Given the description of an element on the screen output the (x, y) to click on. 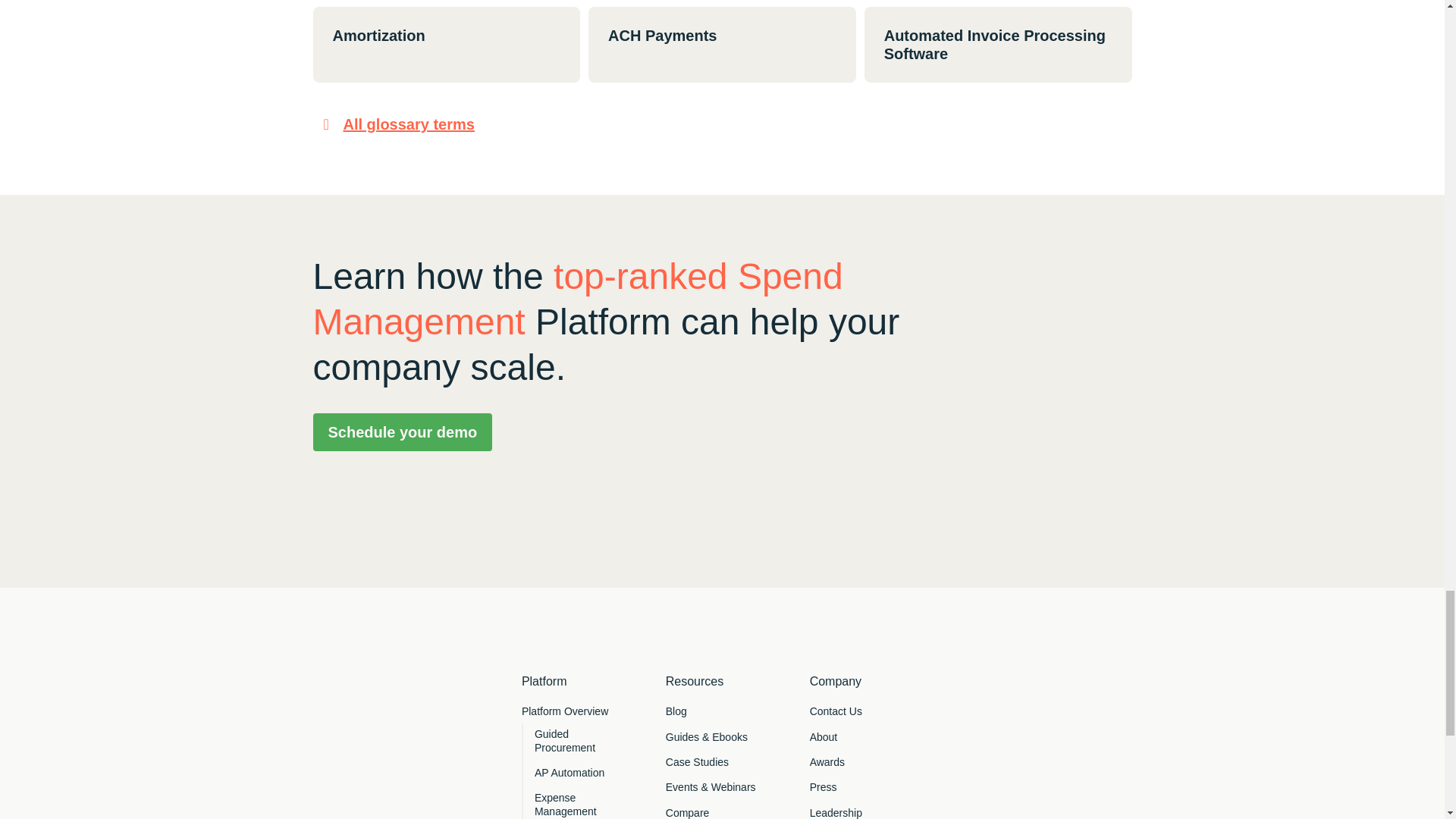
airbase-logo-rgb-02 (394, 730)
apple-button-app (395, 816)
